Given the description of an element on the screen output the (x, y) to click on. 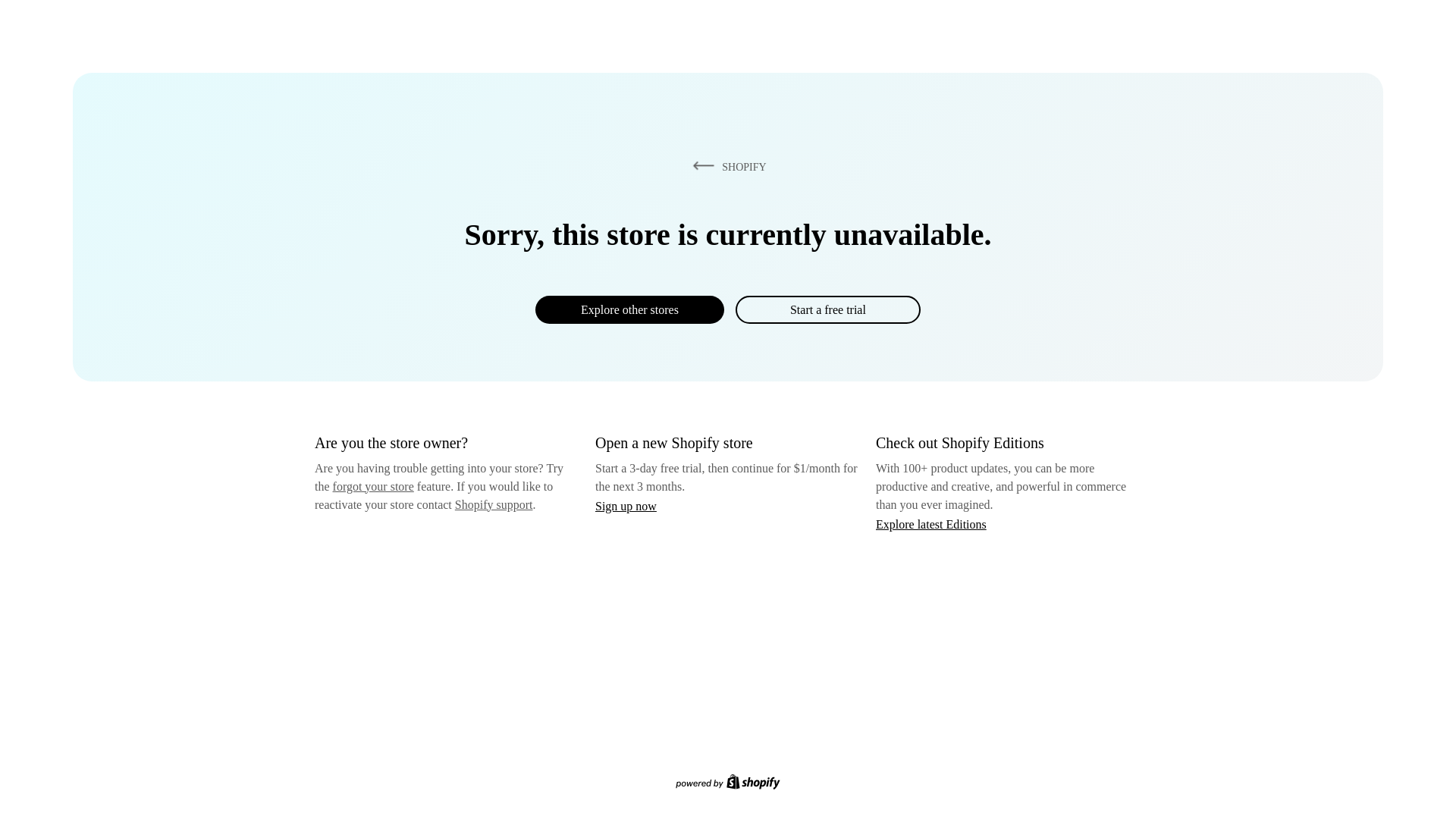
Explore other stores (629, 309)
Explore latest Editions (931, 523)
Start a free trial (827, 309)
forgot your store (373, 486)
Shopify support (493, 504)
SHOPIFY (726, 166)
Sign up now (625, 505)
